Given the description of an element on the screen output the (x, y) to click on. 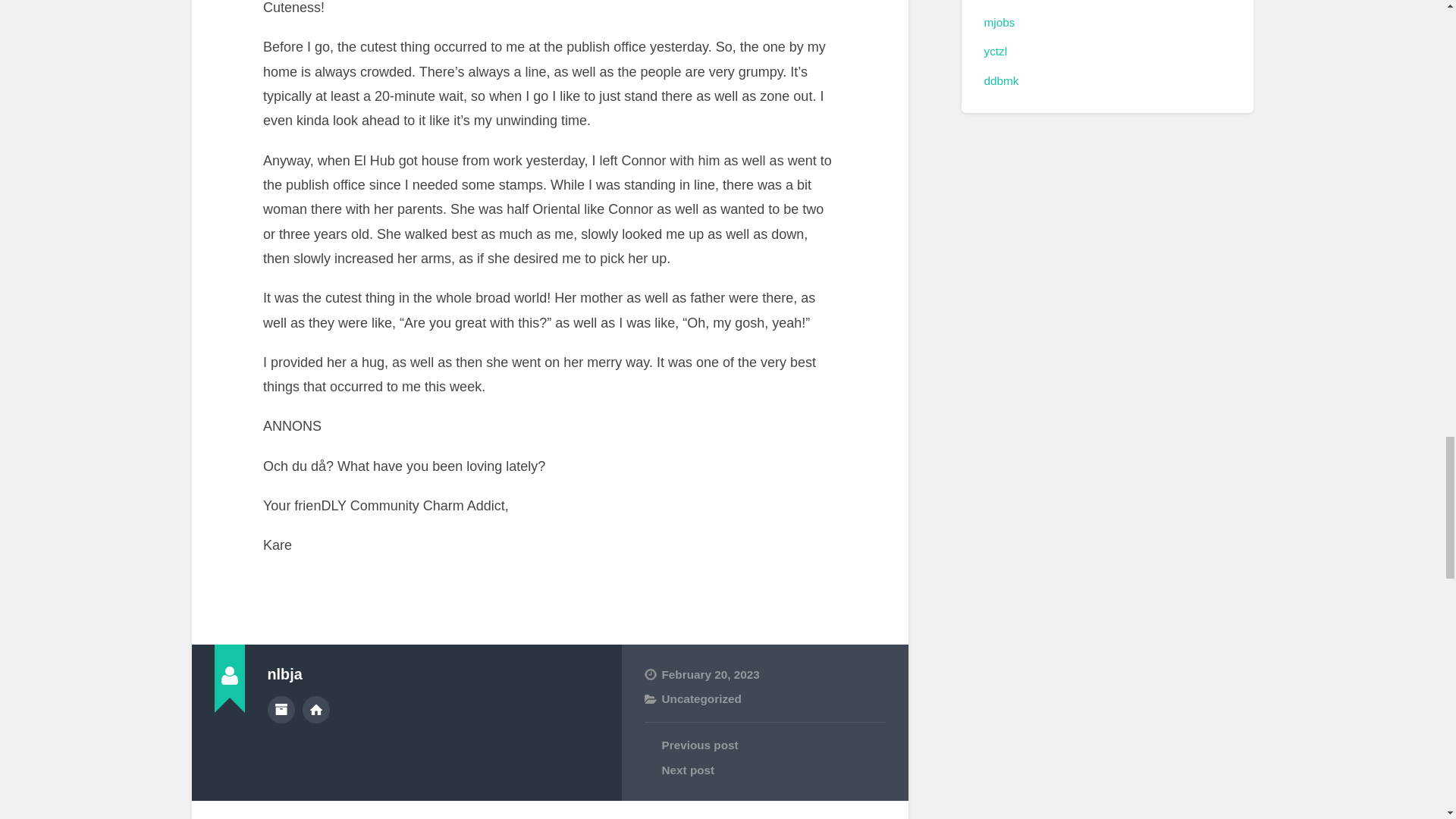
Author website (316, 709)
Author archive (280, 709)
Previous post (765, 744)
Next post (765, 770)
